Given the description of an element on the screen output the (x, y) to click on. 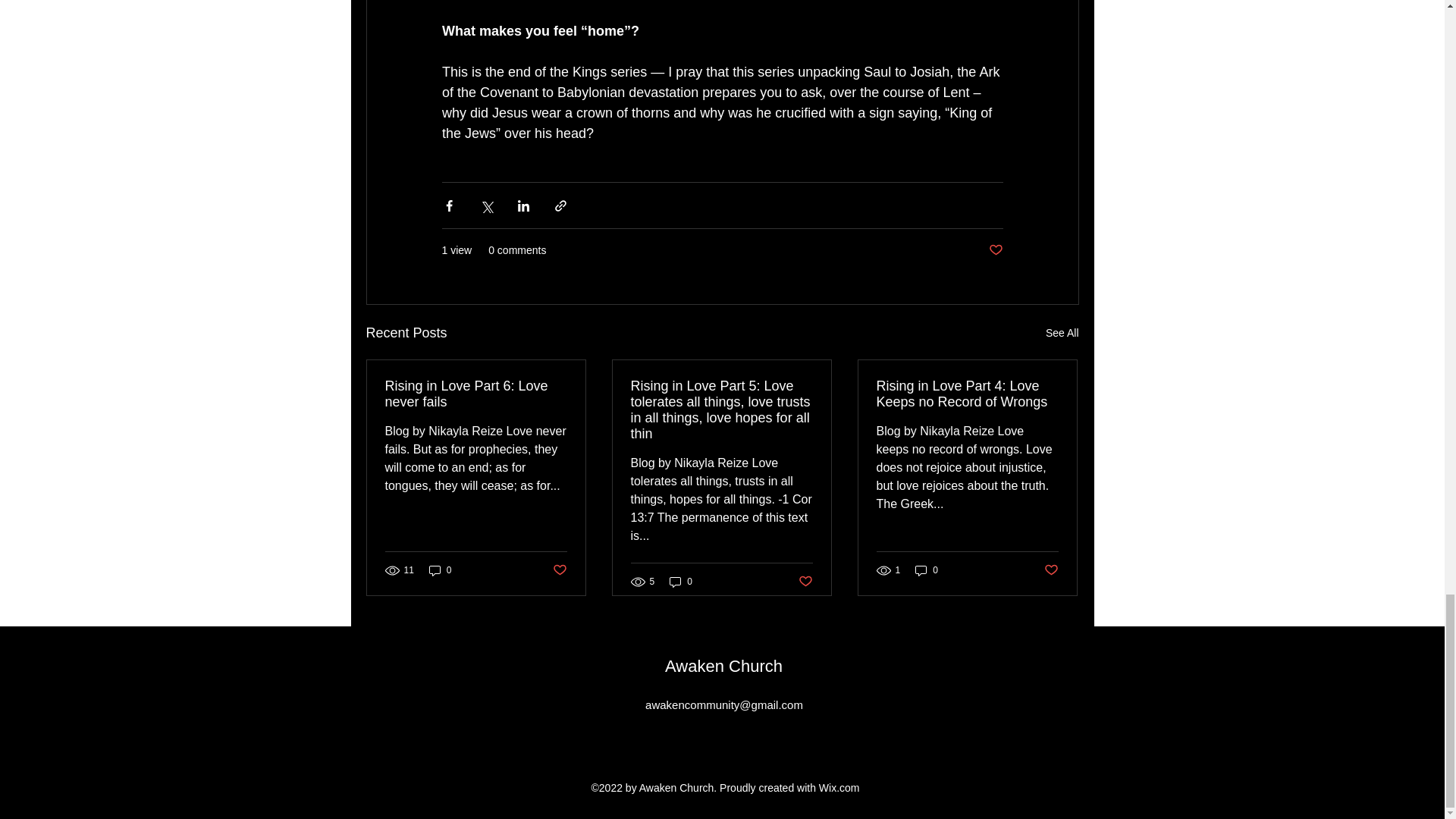
Post not marked as liked (995, 250)
See All (1061, 332)
Rising in Love Part 6: Love never fails (476, 394)
